Given the description of an element on the screen output the (x, y) to click on. 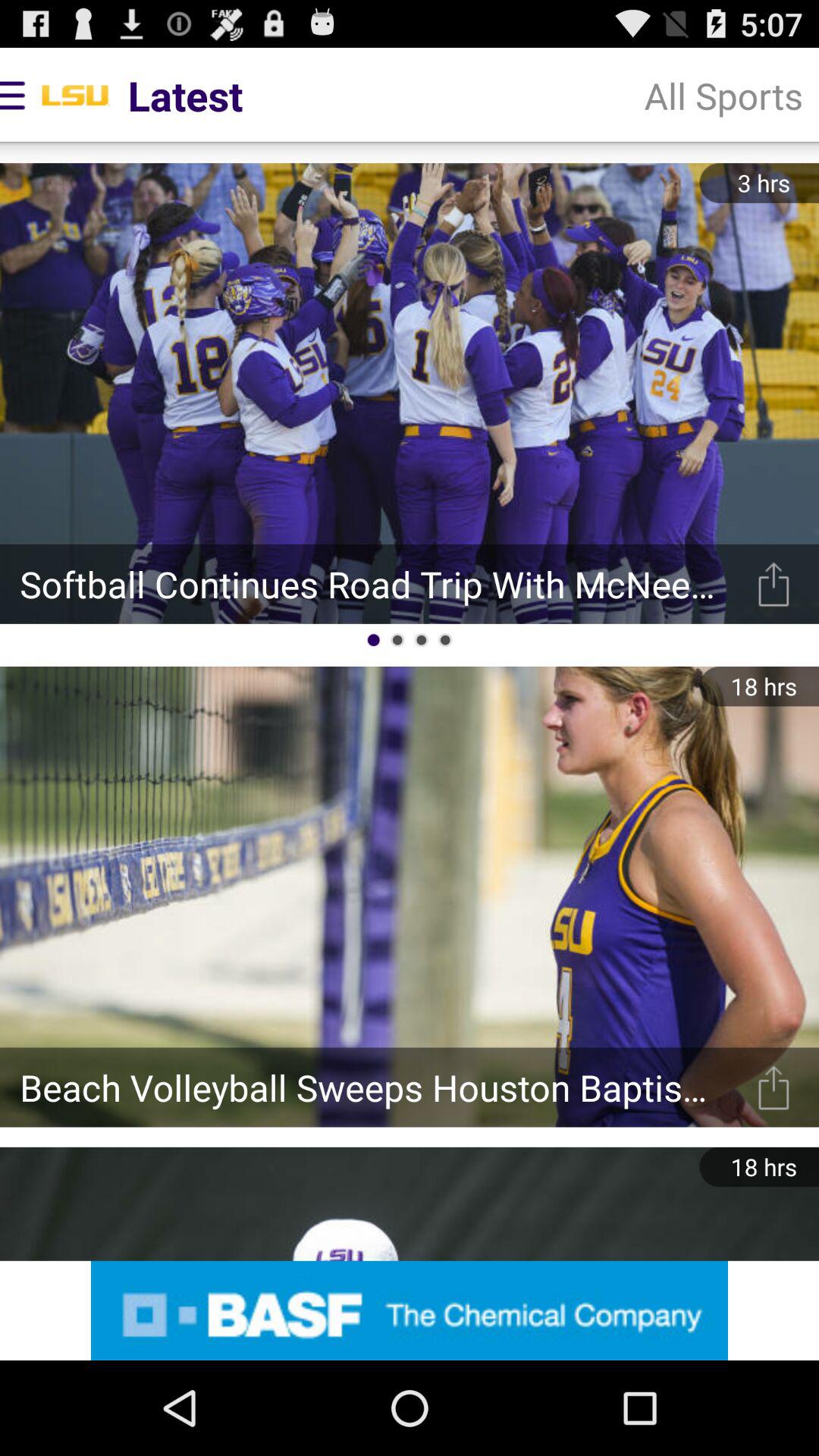
share the news story (773, 583)
